Given the description of an element on the screen output the (x, y) to click on. 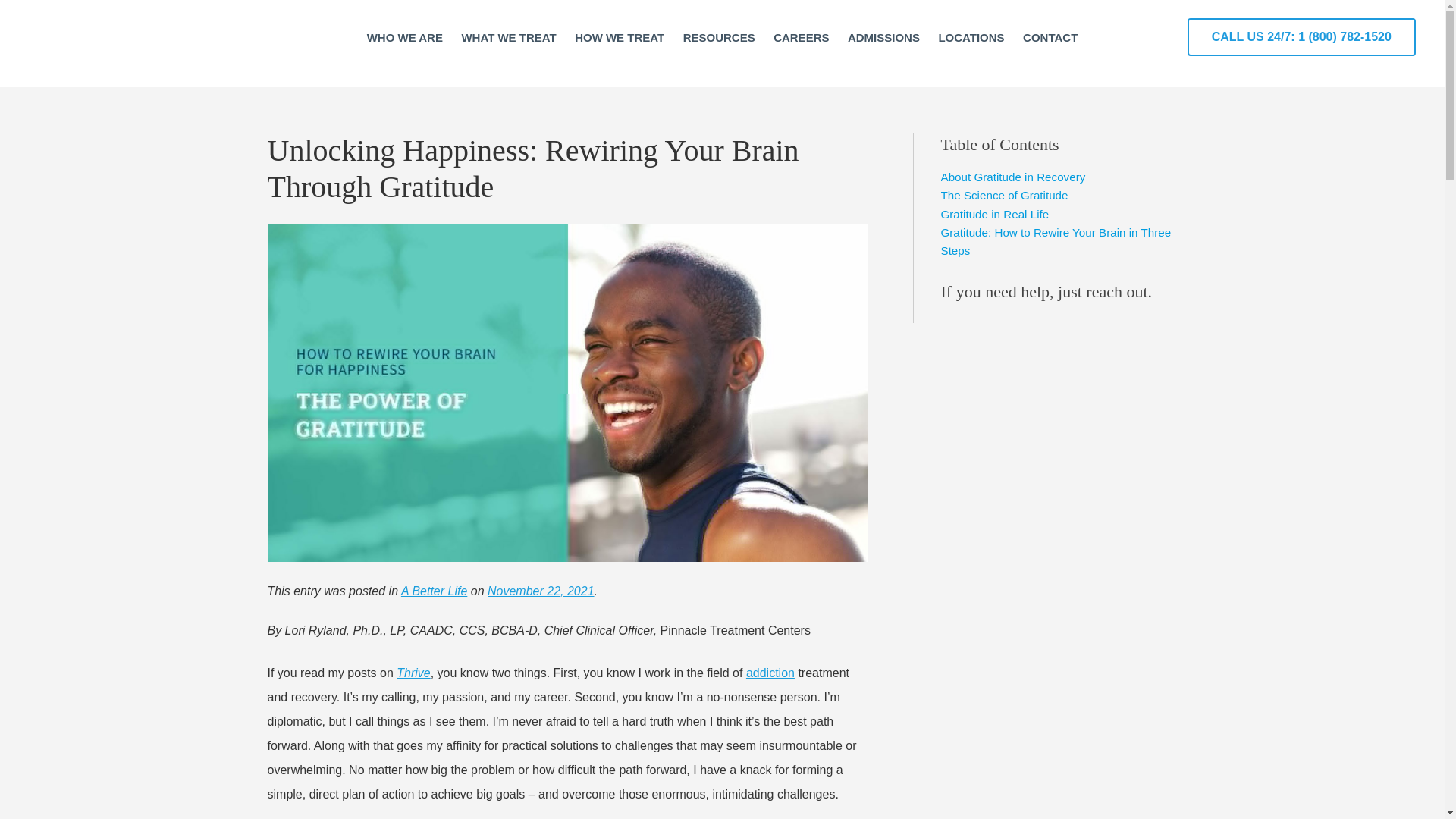
3:42 pm (540, 590)
Gratitude in Real Life (994, 214)
The Science of Gratitude (1003, 195)
About Gratitude in Recovery (1012, 177)
Gratitude: How to Rewire Your Brain in Three Steps (1058, 242)
